Given the description of an element on the screen output the (x, y) to click on. 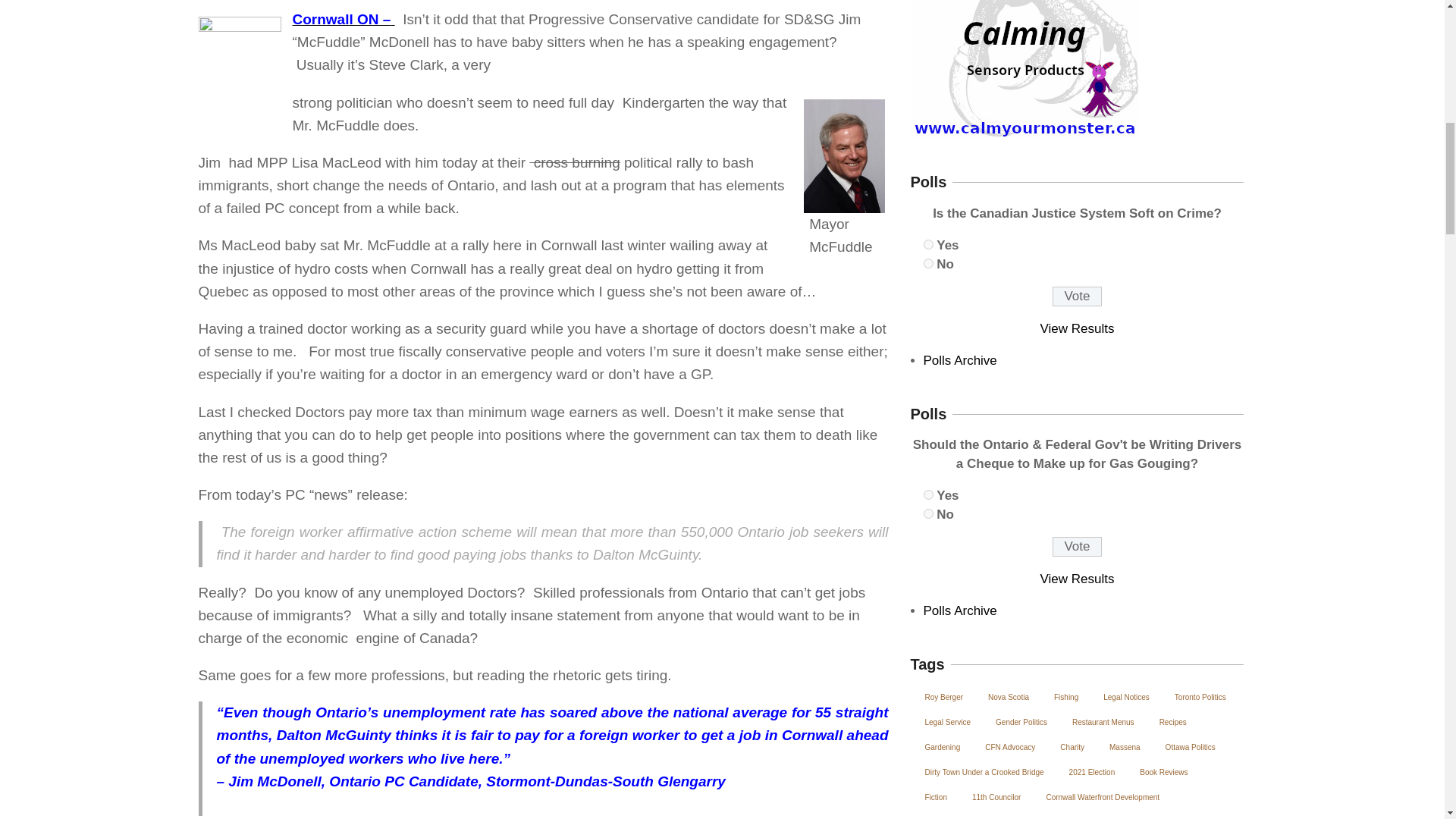
1754 (928, 244)
   Vote    (1076, 296)
   Vote    (1076, 546)
Jim McDonell OFL (844, 155)
1762 (928, 494)
1755 (928, 263)
1763 (928, 513)
33webbwr (239, 64)
